Given the description of an element on the screen output the (x, y) to click on. 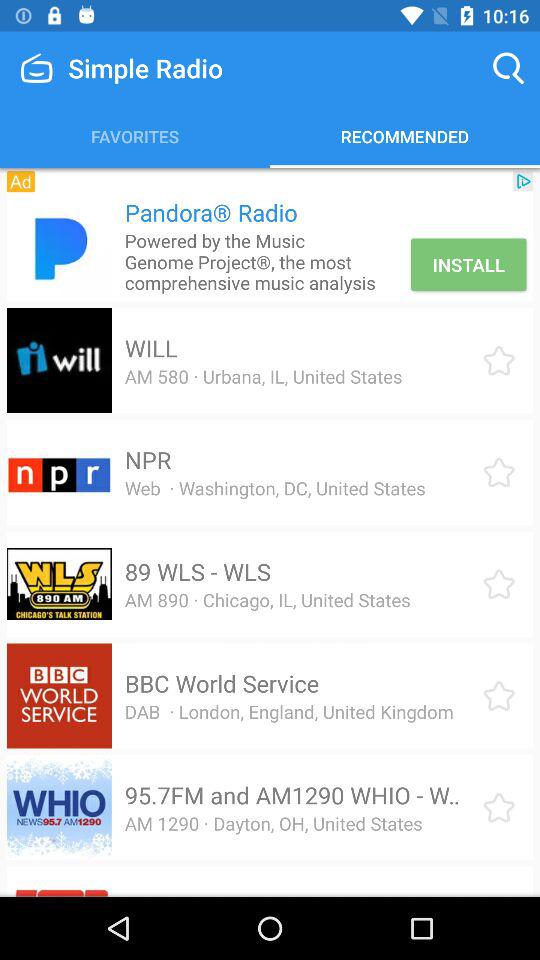
choose the icon below powered by the icon (150, 348)
